Given the description of an element on the screen output the (x, y) to click on. 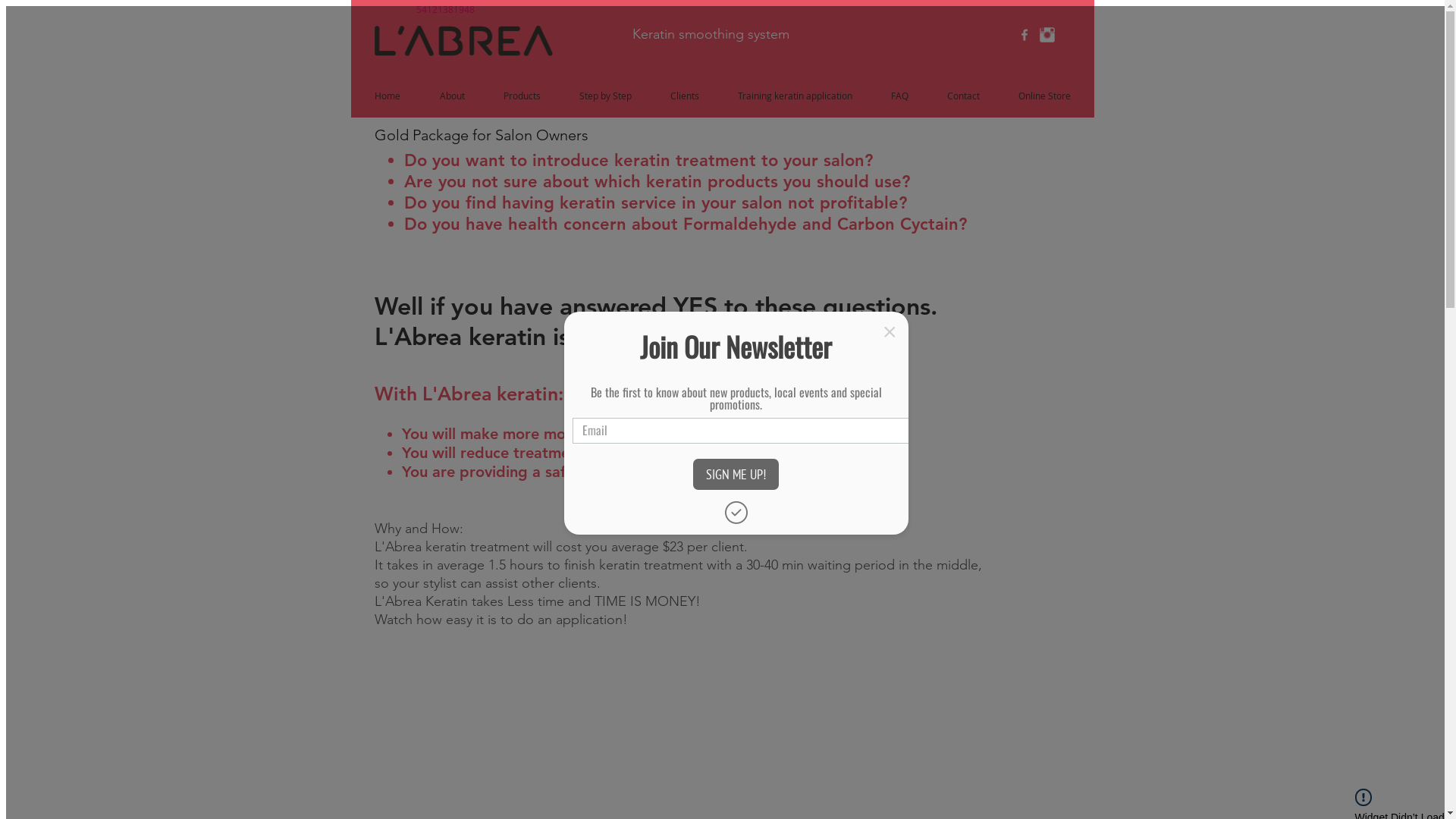
TWIPLA (Visitor Analytics) Element type: hover (1442, 4)
Home Element type: text (387, 95)
Products Element type: text (521, 95)
Contact Element type: text (963, 95)
Clients Element type: text (684, 95)
Step by Step Element type: text (604, 95)
FAQ Element type: text (900, 95)
About Element type: text (452, 95)
Training keratin application Element type: text (795, 95)
Online Store Element type: text (1044, 95)
